Given the description of an element on the screen output the (x, y) to click on. 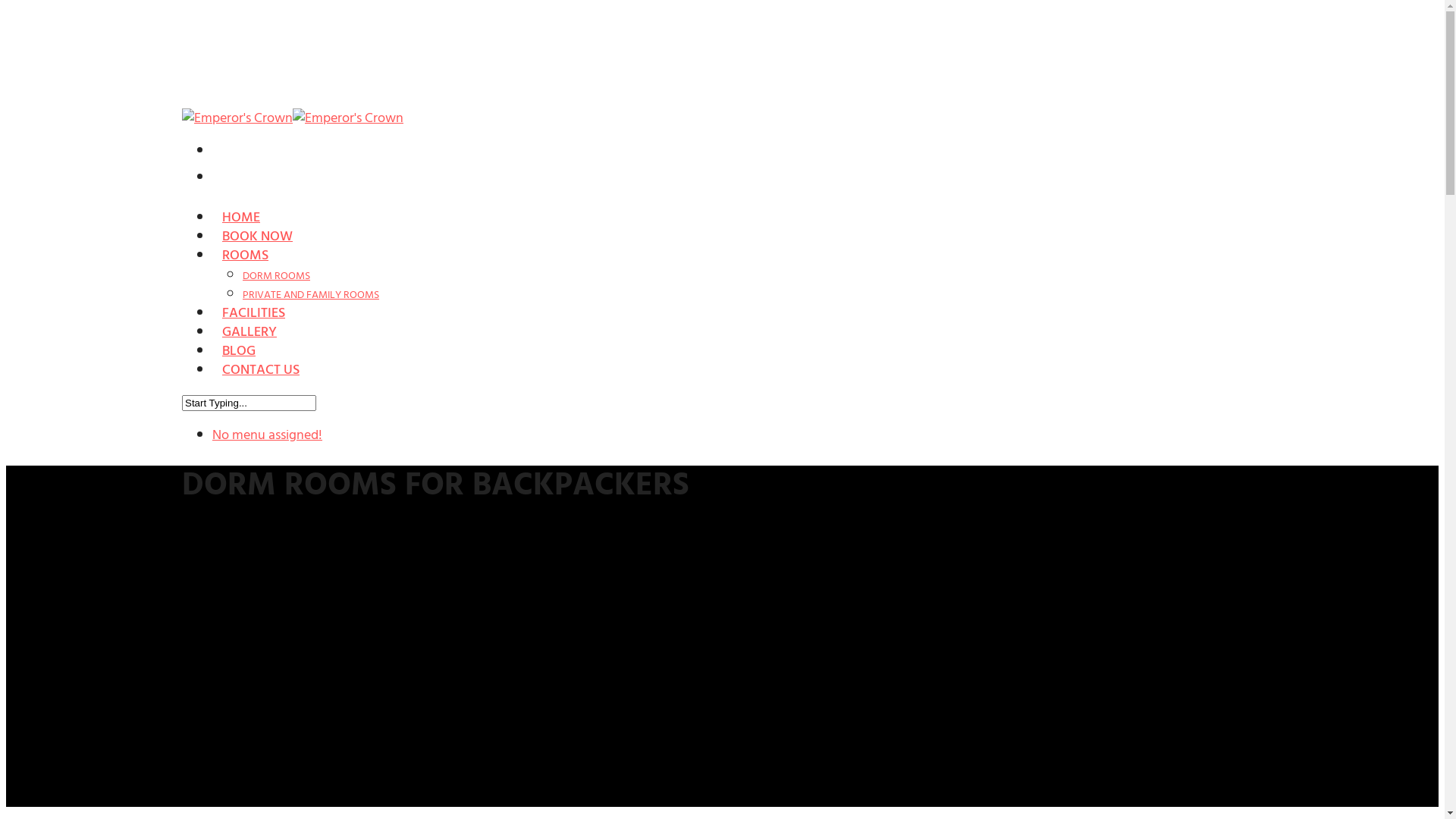
GALLERY Element type: text (249, 340)
FACILITIES Element type: text (253, 321)
DORM ROOMS Element type: text (276, 275)
HOME Element type: text (240, 226)
BOOK NOW Element type: text (257, 245)
ROOMS Element type: text (245, 264)
PRIVATE AND FAMILY ROOMS Element type: text (310, 294)
BLOG Element type: text (238, 359)
No menu assigned! Element type: text (267, 434)
CONTACT US Element type: text (260, 378)
